Given the description of an element on the screen output the (x, y) to click on. 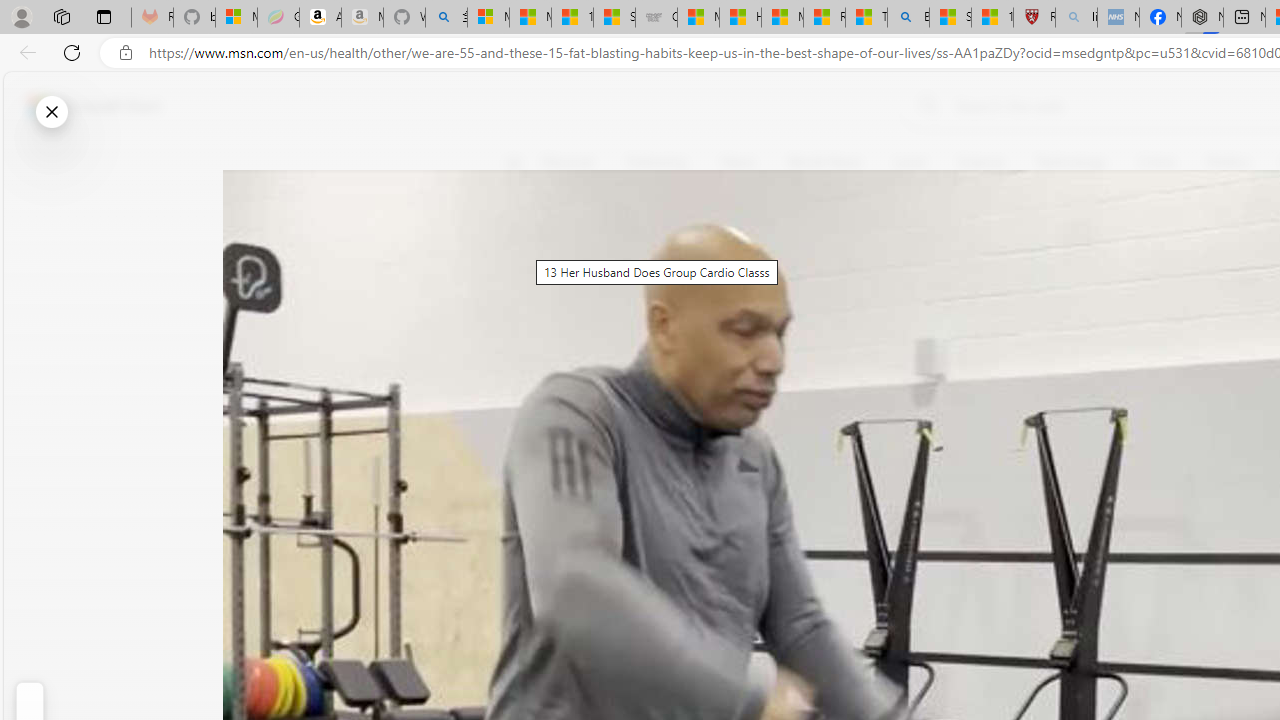
Class: at-item (525, 468)
Follow (909, 258)
